Given the description of an element on the screen output the (x, y) to click on. 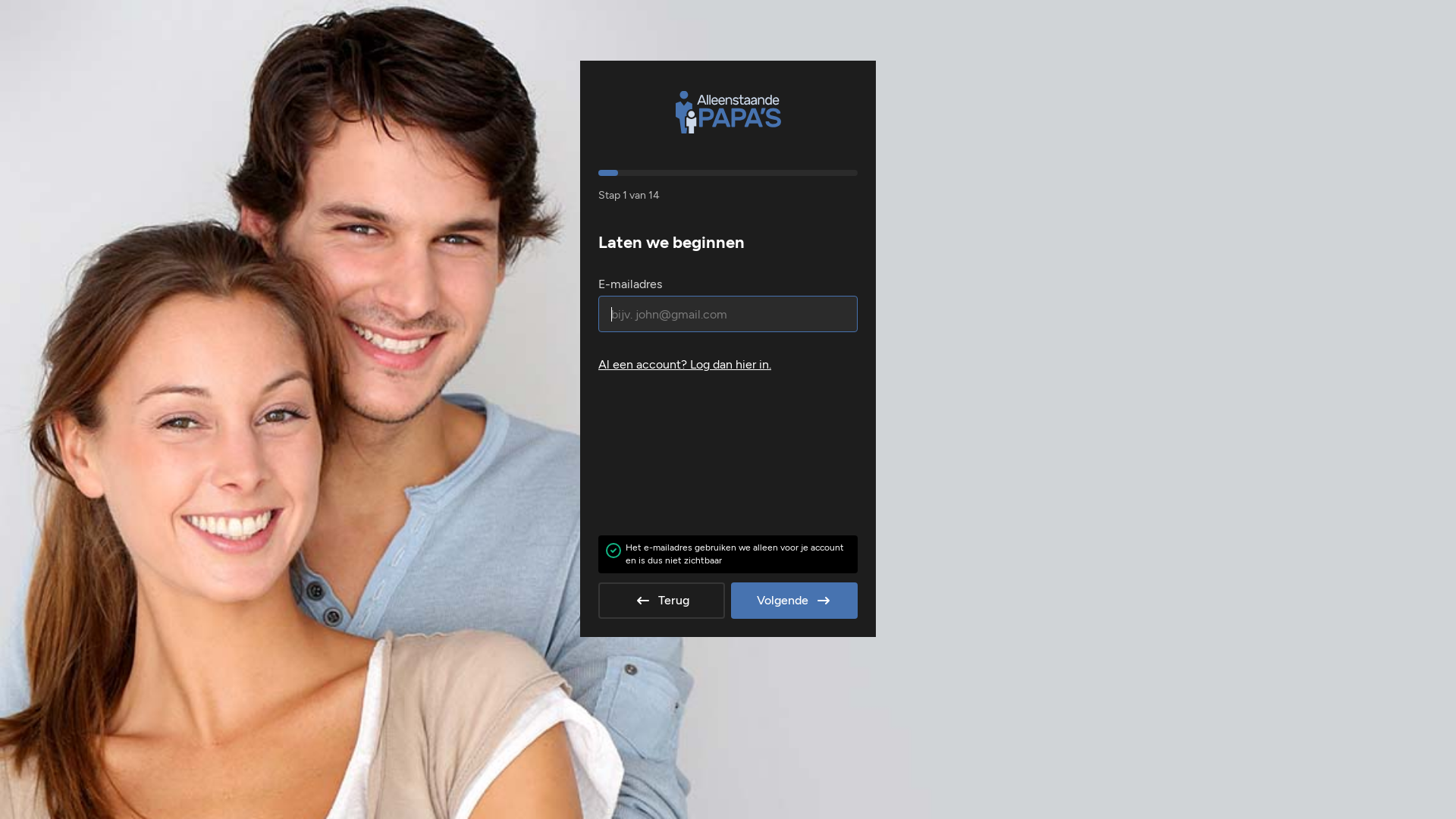
Al een account? Log dan hier in. Element type: text (727, 364)
Alleenstaande-Papas.be Element type: hover (727, 112)
Volgende Element type: text (794, 600)
Terug Element type: text (661, 600)
